Given the description of an element on the screen output the (x, y) to click on. 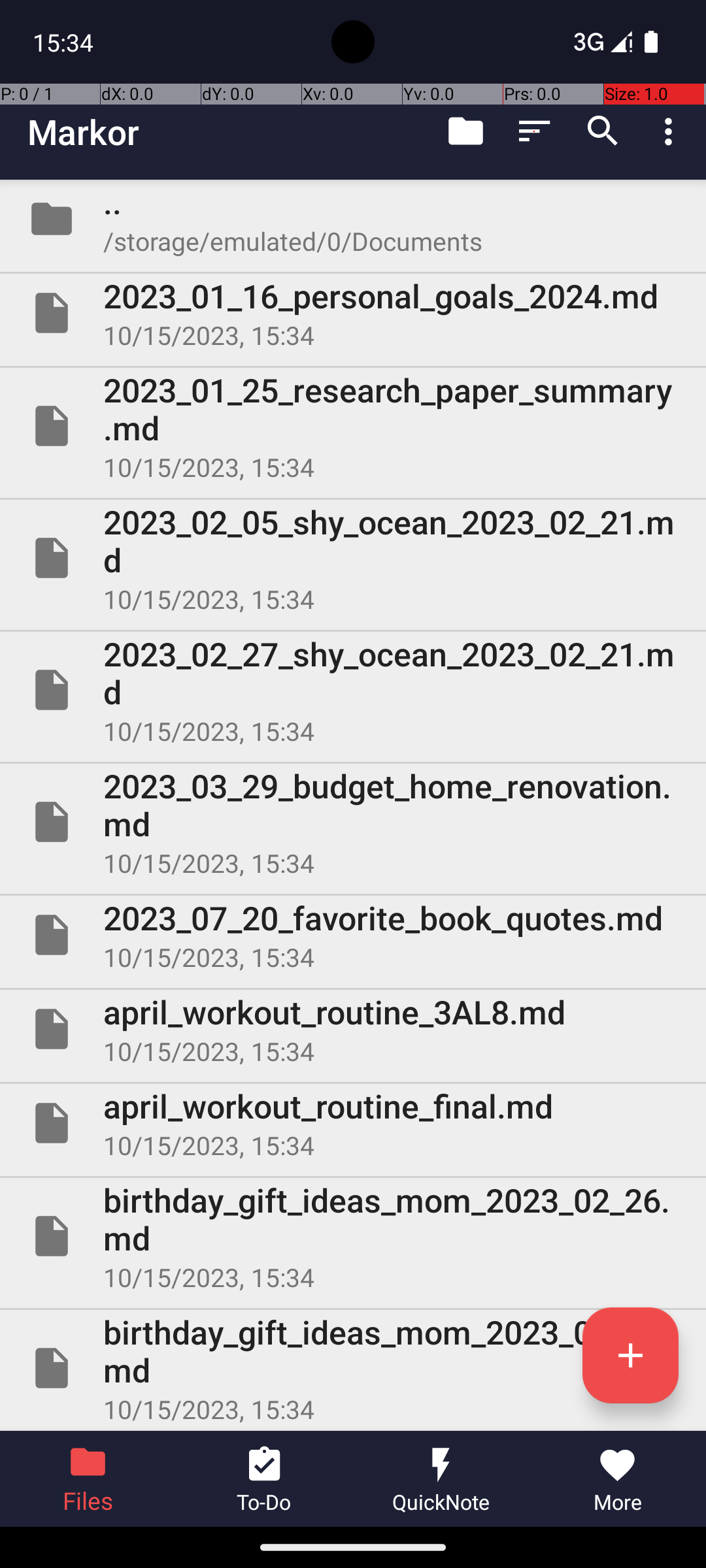
File 2023_01_16_personal_goals_2024.md  Element type: android.widget.LinearLayout (353, 312)
File 2023_01_25_research_paper_summary.md  Element type: android.widget.LinearLayout (353, 425)
File 2023_02_05_shy_ocean_2023_02_21.md  Element type: android.widget.LinearLayout (353, 557)
File 2023_02_27_shy_ocean_2023_02_21.md  Element type: android.widget.LinearLayout (353, 689)
File 2023_03_29_budget_home_renovation.md  Element type: android.widget.LinearLayout (353, 821)
File 2023_07_20_favorite_book_quotes.md  Element type: android.widget.LinearLayout (353, 934)
File april_workout_routine_3AL8.md  Element type: android.widget.LinearLayout (353, 1028)
File april_workout_routine_final.md  Element type: android.widget.LinearLayout (353, 1122)
File birthday_gift_ideas_mom_2023_02_26.md  Element type: android.widget.LinearLayout (353, 1235)
File birthday_gift_ideas_mom_2023_05_14.md  Element type: android.widget.LinearLayout (353, 1367)
